Given the description of an element on the screen output the (x, y) to click on. 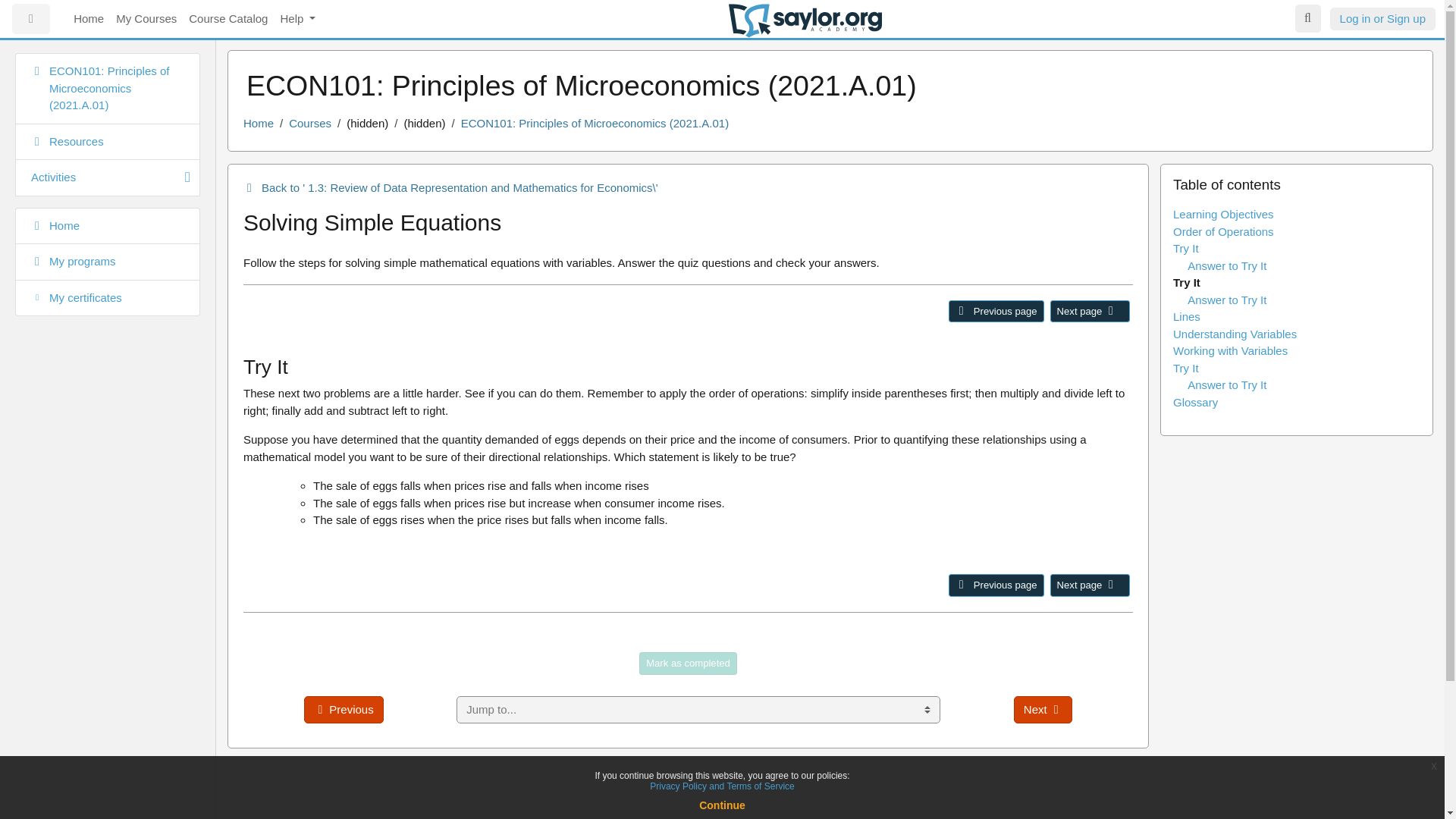
Next (1042, 709)
Resources (107, 140)
Next: Answer to Try It (1089, 585)
My programs (107, 261)
Previous: Answer to Try It (996, 585)
Home (107, 226)
Previous (343, 709)
Previous: Answer to Try It (961, 310)
Courses (309, 123)
Next: Answer to Try It (1110, 584)
